Given the description of an element on the screen output the (x, y) to click on. 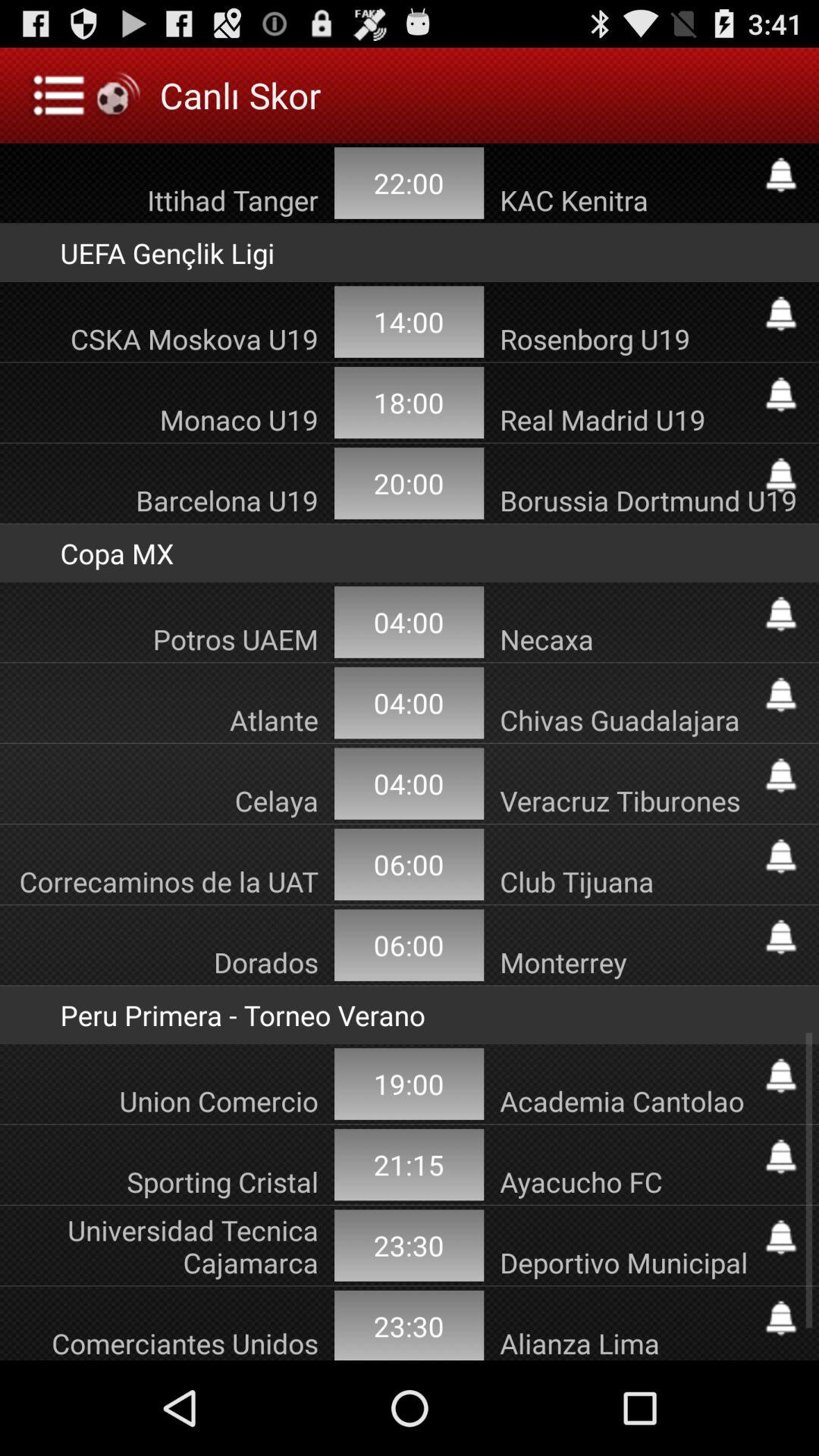
set alarm (780, 694)
